Given the description of an element on the screen output the (x, y) to click on. 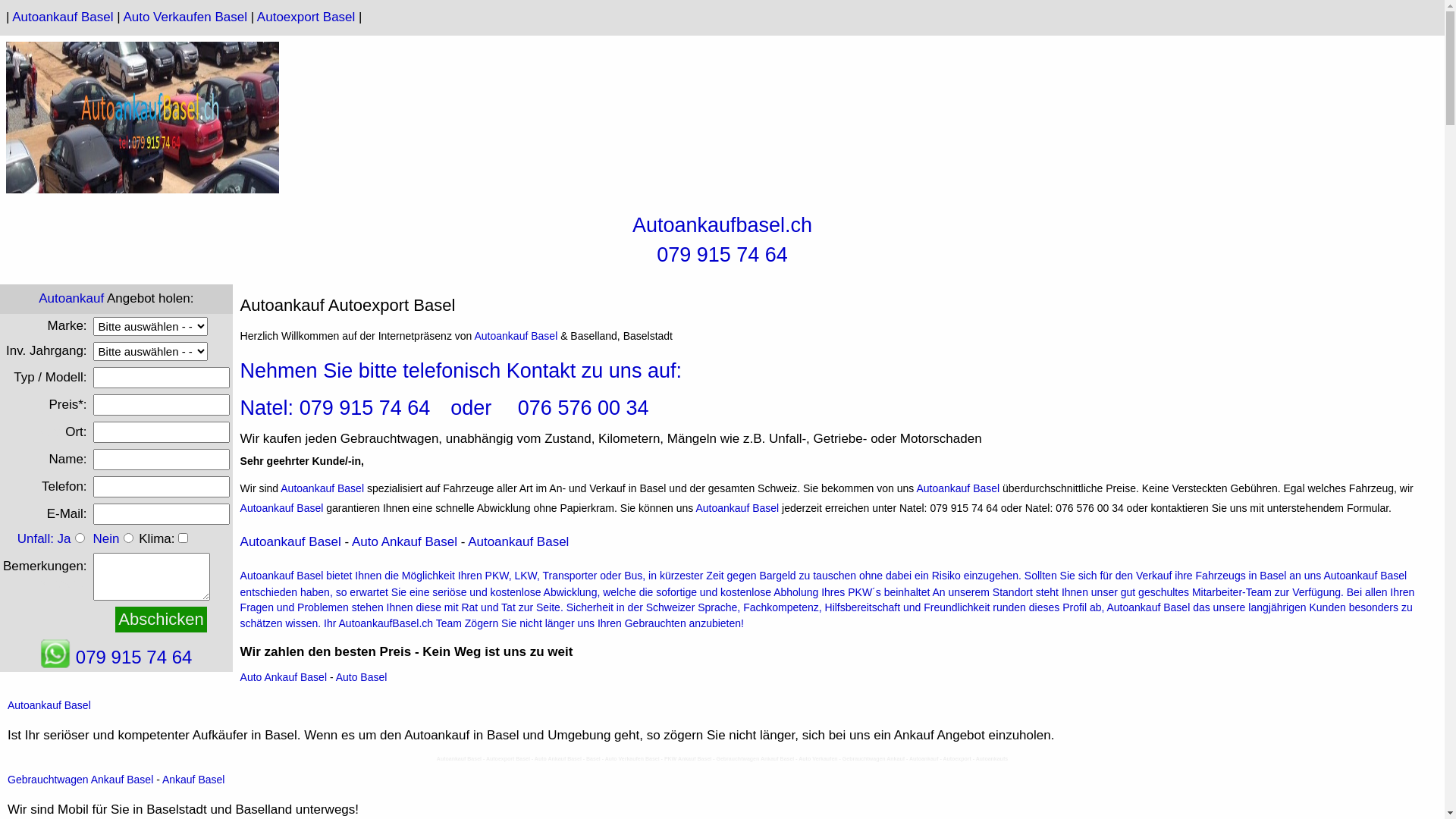
Ankauf Basel Element type: text (193, 779)
Autoankauf Basel Element type: text (62, 16)
Auto Verkaufen Basel Element type: text (184, 16)
Autoankauf Basel Element type: text (1148, 607)
Abschicken Element type: text (161, 619)
Autoankauf Basel Element type: text (517, 541)
Autoankauf Basel Element type: text (49, 705)
Gebrauchtwagen Ankauf Basel Element type: text (80, 779)
Autoankauf Basel Element type: text (281, 508)
Autoankauf Basel Element type: text (957, 488)
Auto Ankauf Basel Element type: text (283, 677)
Autoexport Basel Element type: text (305, 16)
Auto Ankauf Basel Element type: text (404, 541)
Autoankaufbasel Element type: text (708, 224)
Auto Basel Element type: text (361, 677)
Autoankauf Basel Element type: text (281, 575)
Autoankauf Basel Element type: text (1364, 575)
Autoankauf Basel Element type: text (736, 508)
Autoankauf Element type: text (70, 298)
Autoankauf Basel Element type: text (322, 488)
Autoankauf Basel Element type: text (290, 541)
Autoankauf Basel Element type: text (516, 335)
